Given the description of an element on the screen output the (x, y) to click on. 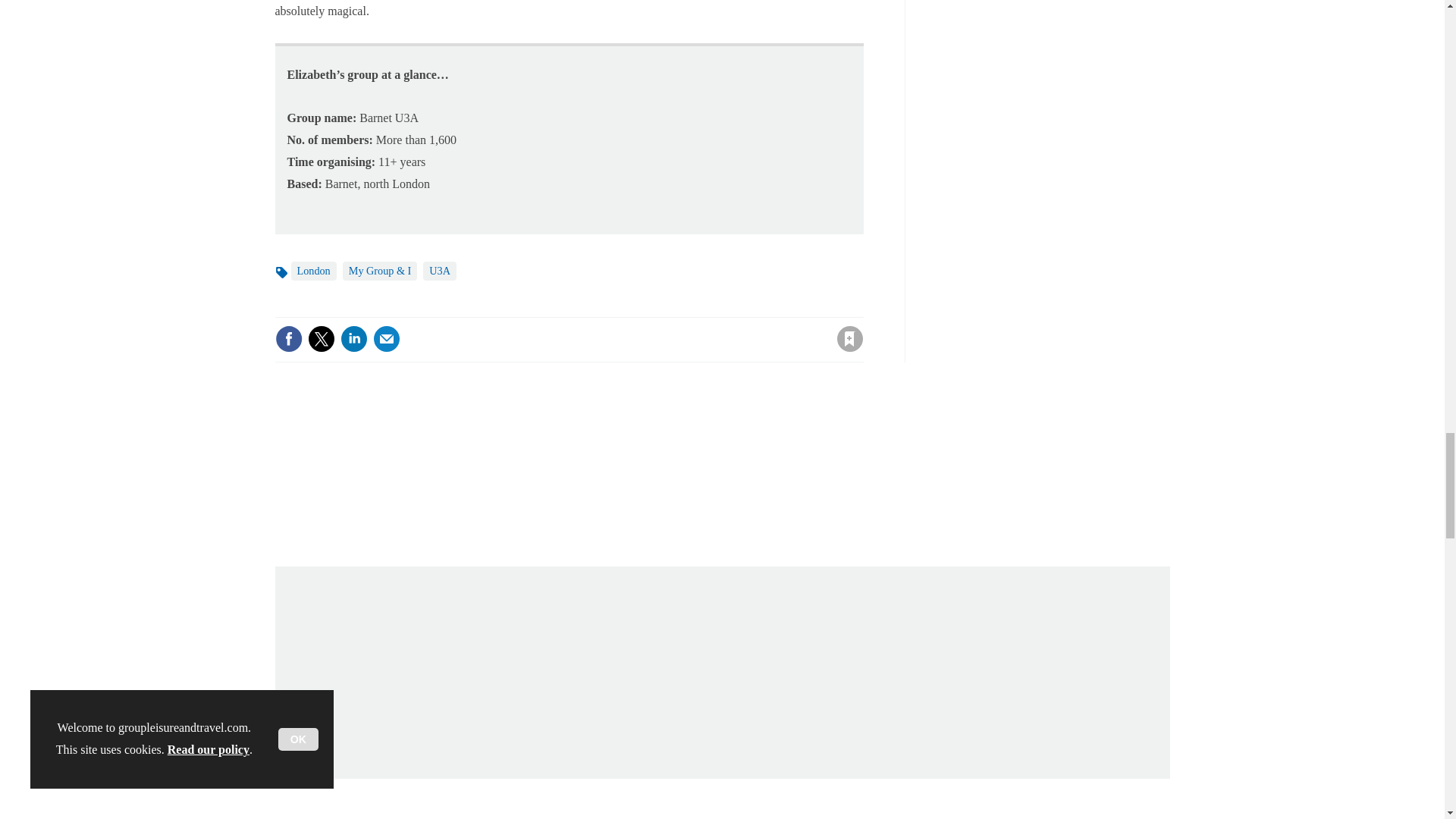
Share this on Facebook (288, 338)
Email this article (386, 338)
Share this on LinkedIn (352, 338)
